Given the description of an element on the screen output the (x, y) to click on. 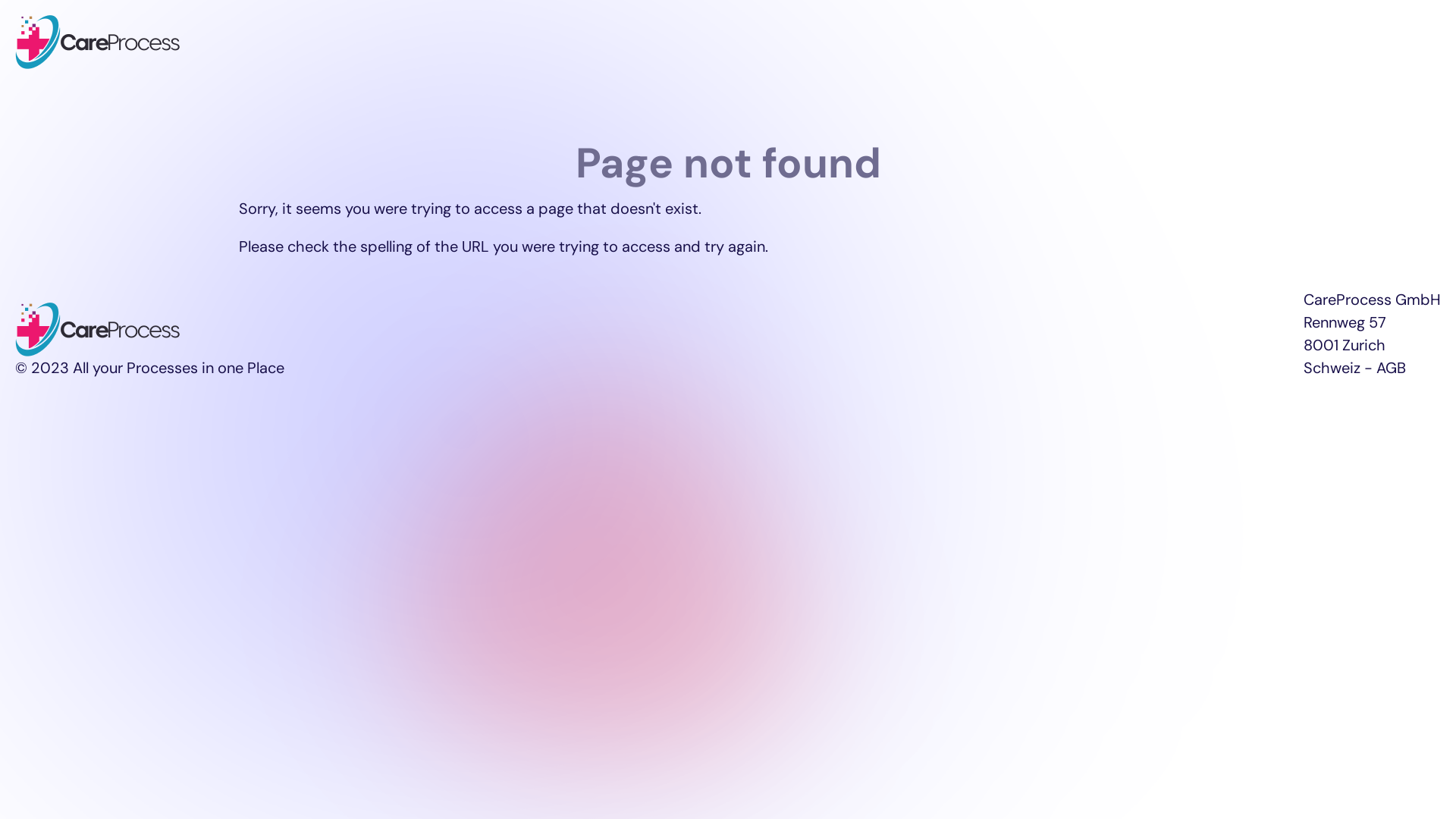
AGB Element type: text (1390, 367)
